Given the description of an element on the screen output the (x, y) to click on. 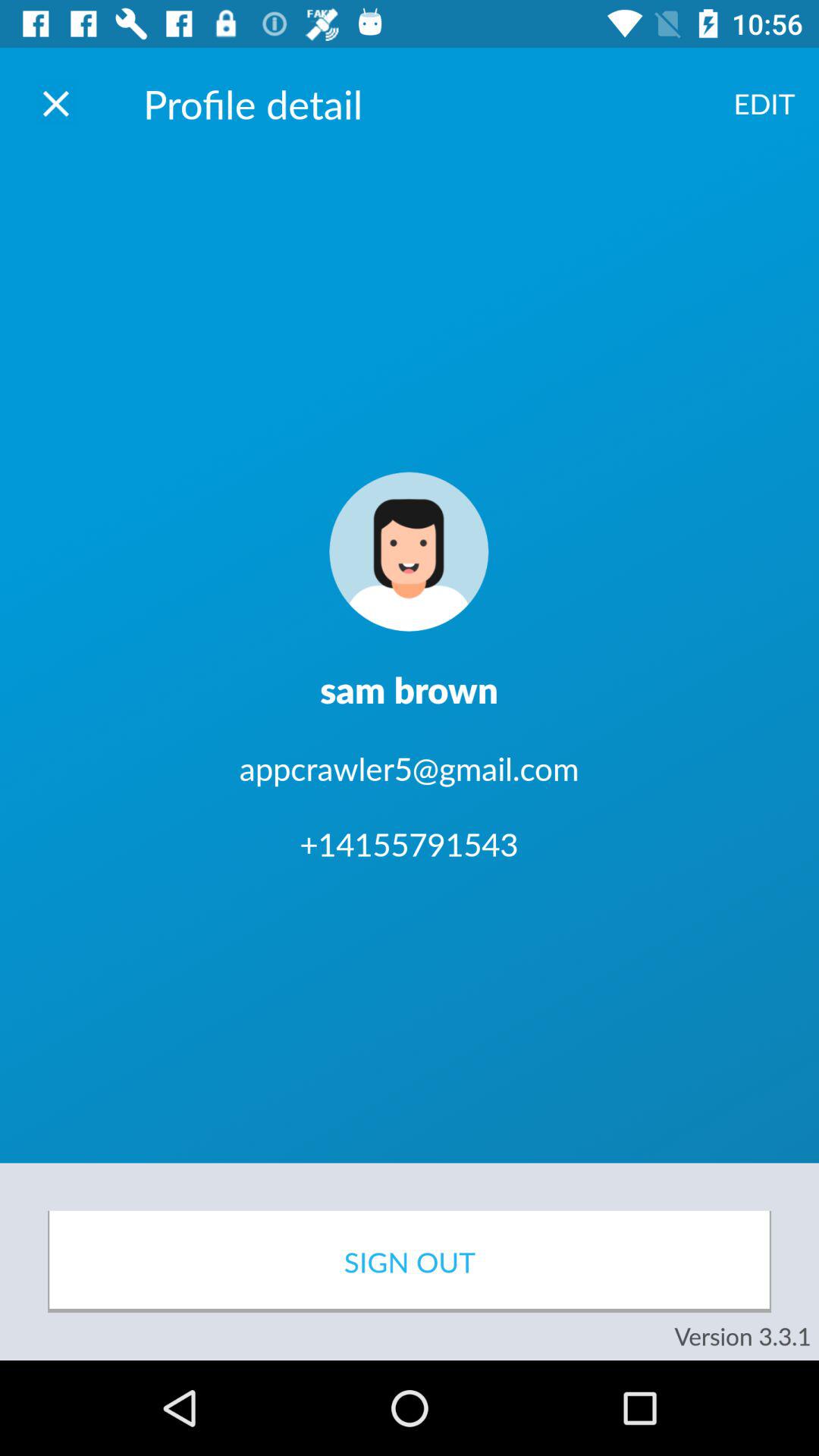
close screen (55, 103)
